Given the description of an element on the screen output the (x, y) to click on. 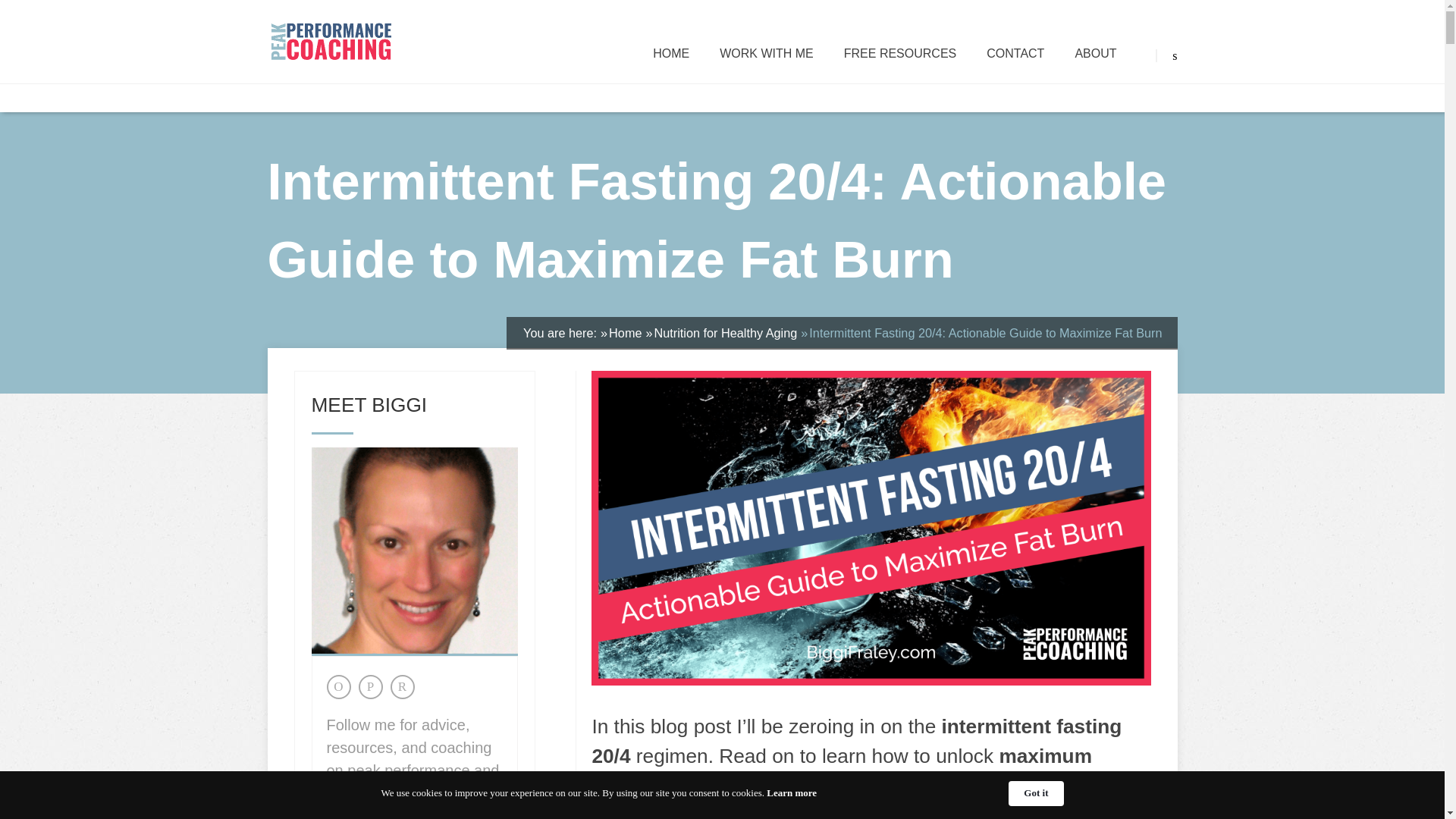
Nutrition for Healthy Aging (725, 332)
HOME (670, 53)
CONTACT (1015, 53)
Learn more (791, 793)
WORK WITH ME (766, 53)
FREE RESOURCES (900, 53)
ABOUT (1095, 53)
Home (625, 332)
